Given the description of an element on the screen output the (x, y) to click on. 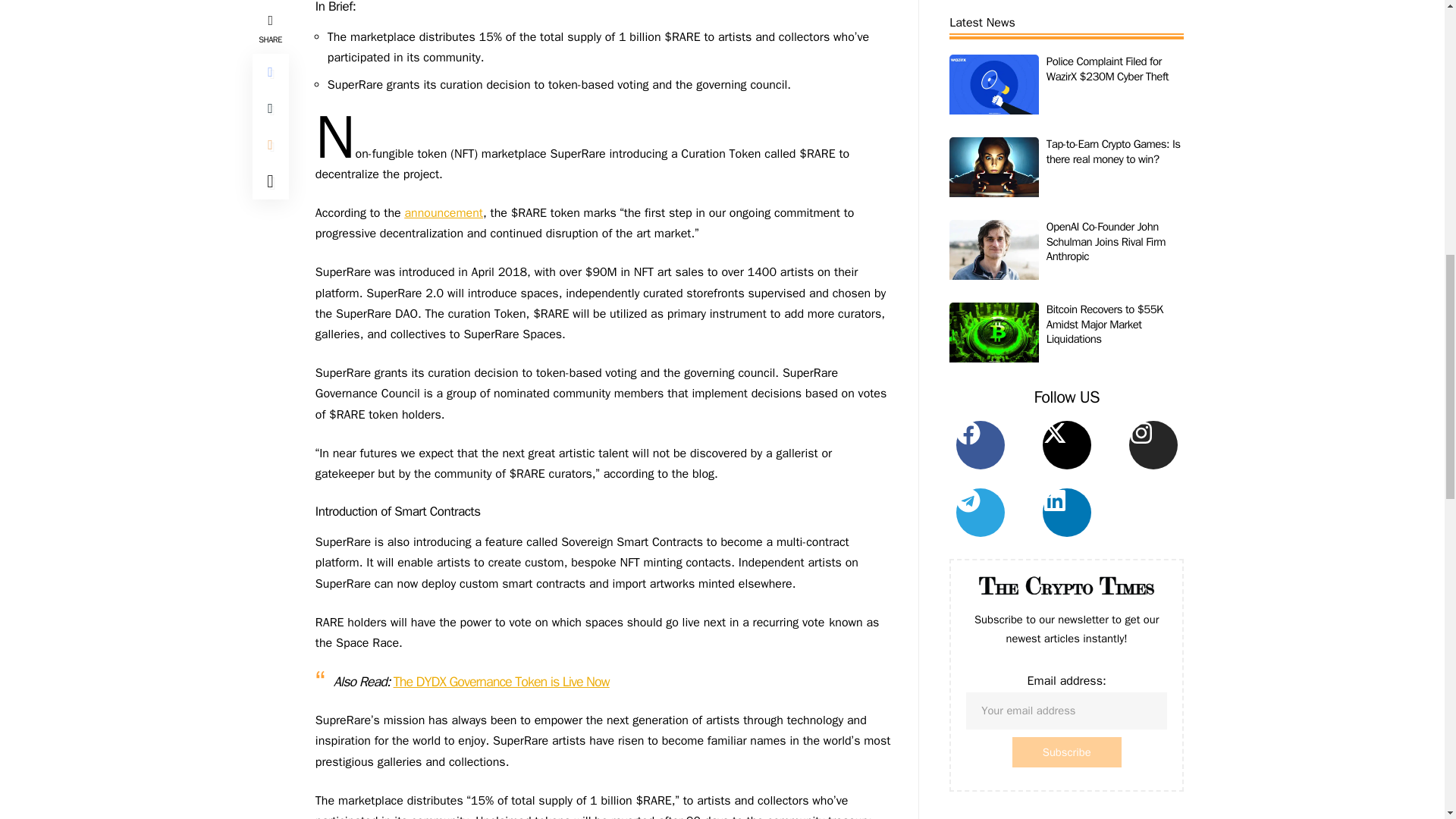
Subscribe (1066, 32)
